Given the description of an element on the screen output the (x, y) to click on. 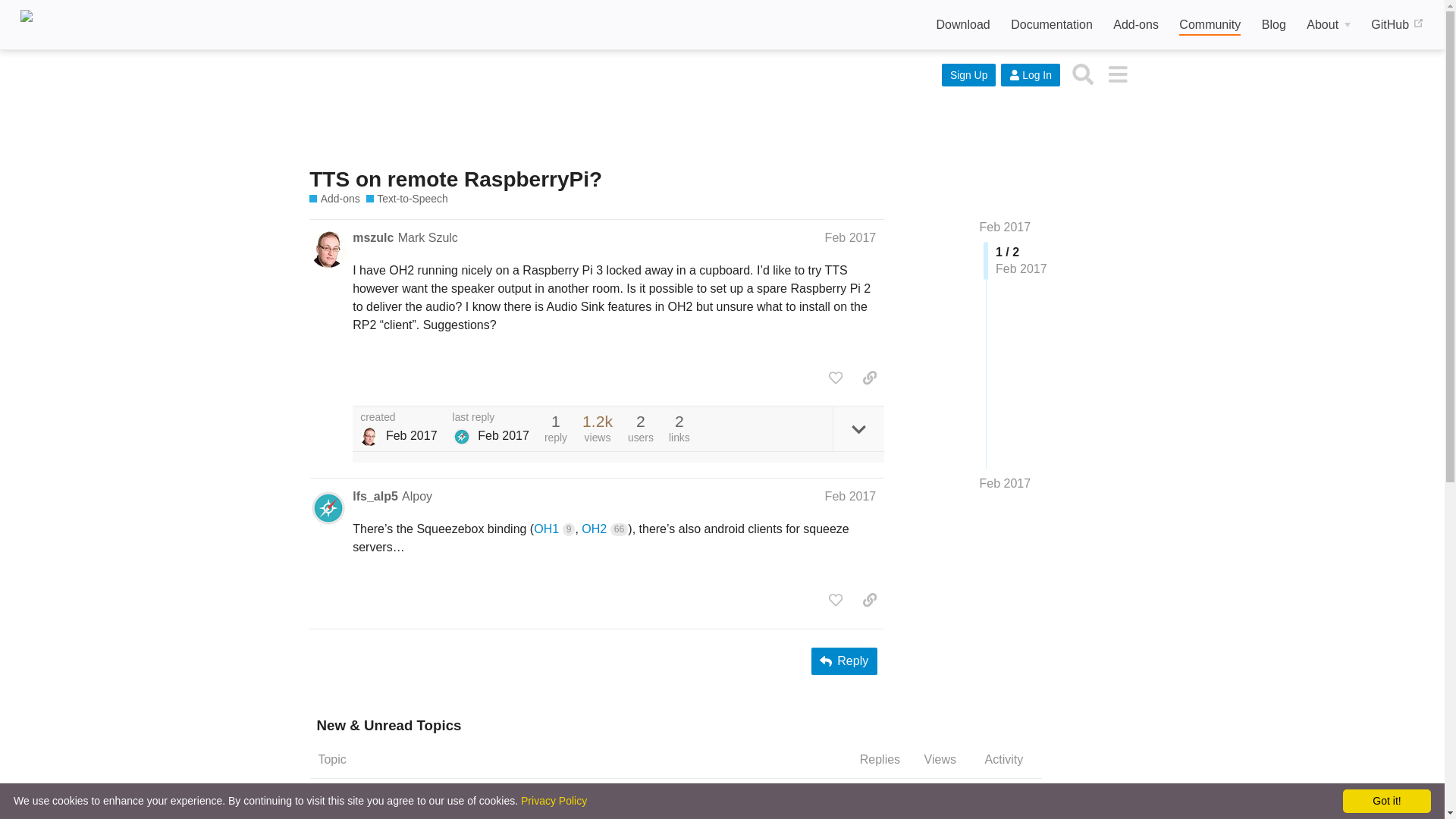
Feb 2017 (1004, 226)
Download (963, 25)
menu (1117, 73)
Search (1082, 73)
Feb 2017 (1004, 483)
GitHub (1397, 25)
mszulc (372, 238)
Add-ons (333, 198)
Add-ons (1135, 25)
copy a link to this post to clipboard (869, 377)
Alpoy (461, 436)
About (1328, 25)
last reply (490, 417)
Sign Up (968, 74)
Mark Szulc (368, 436)
